Given the description of an element on the screen output the (x, y) to click on. 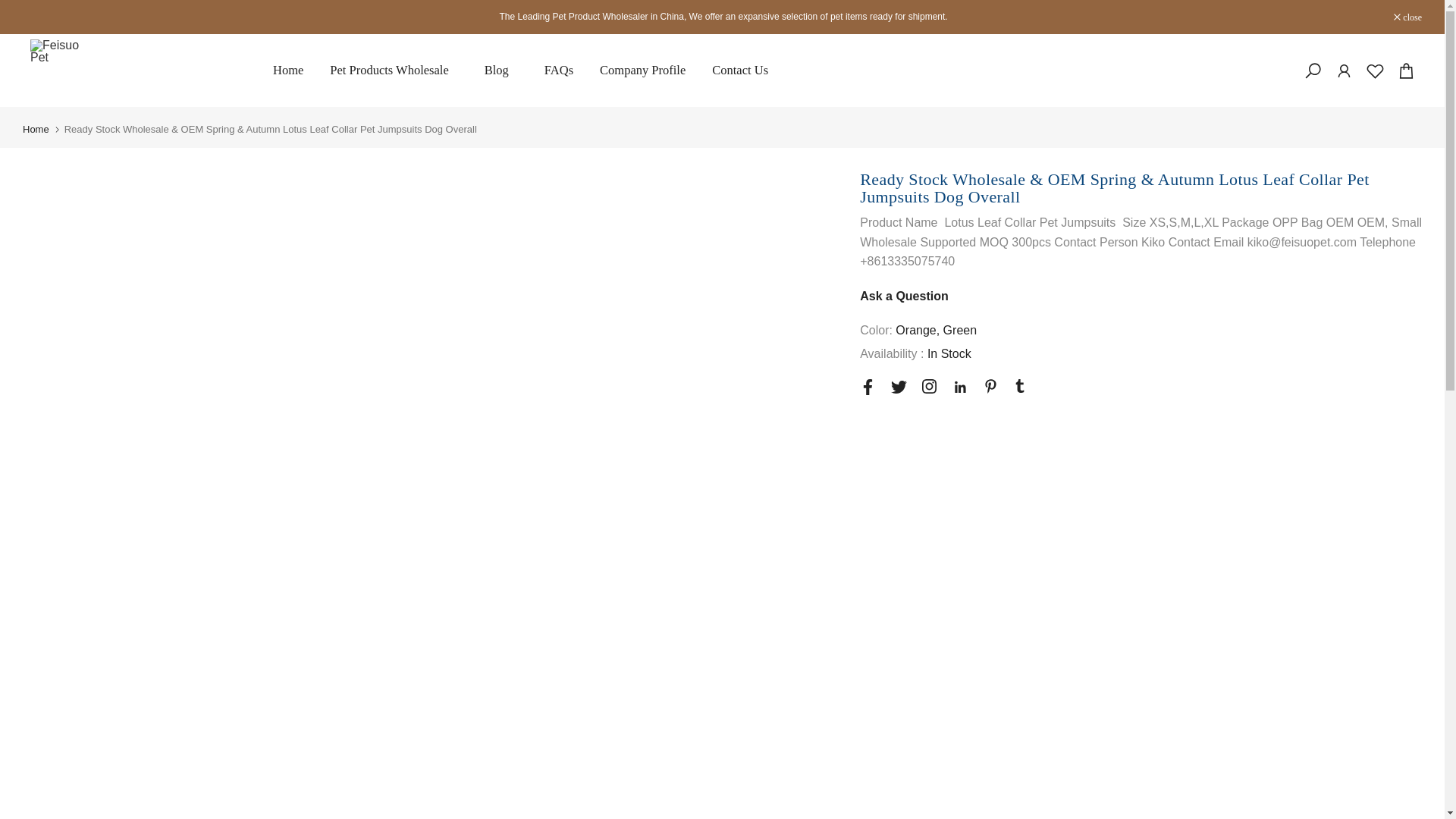
Follow on Pinterest (990, 386)
Pet Products Wholesale (393, 70)
Skip to content (10, 7)
Follow on Facebook (868, 386)
Follow on Twitter (899, 386)
Follow on Linkedin (960, 387)
Home (287, 70)
FAQs (558, 70)
Company Profile (642, 70)
Home (36, 129)
Blog (500, 70)
close (1407, 16)
Contact Us (739, 70)
Ask a Question (903, 295)
Follow on Tumblr (1019, 386)
